Given the description of an element on the screen output the (x, y) to click on. 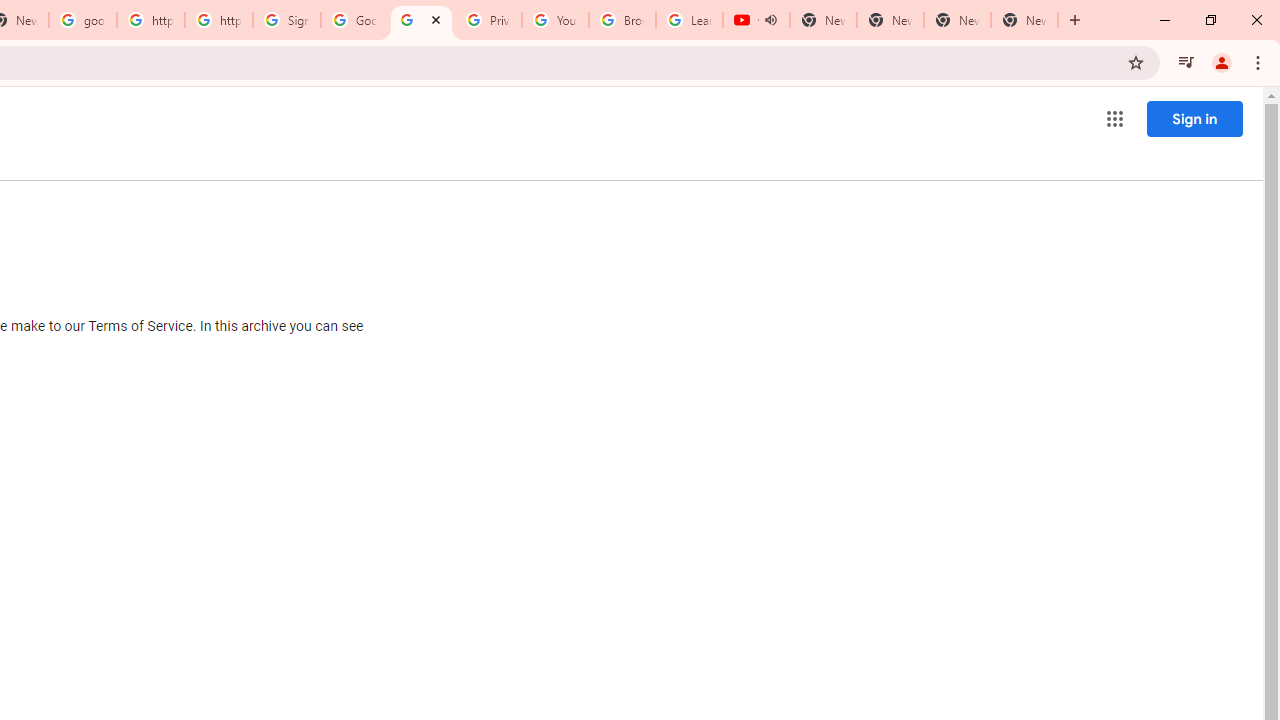
https://scholar.google.com/ (150, 20)
Browse Chrome as a guest - Computer - Google Chrome Help (622, 20)
Sign in - Google Accounts (287, 20)
https://scholar.google.com/ (219, 20)
